Given the description of an element on the screen output the (x, y) to click on. 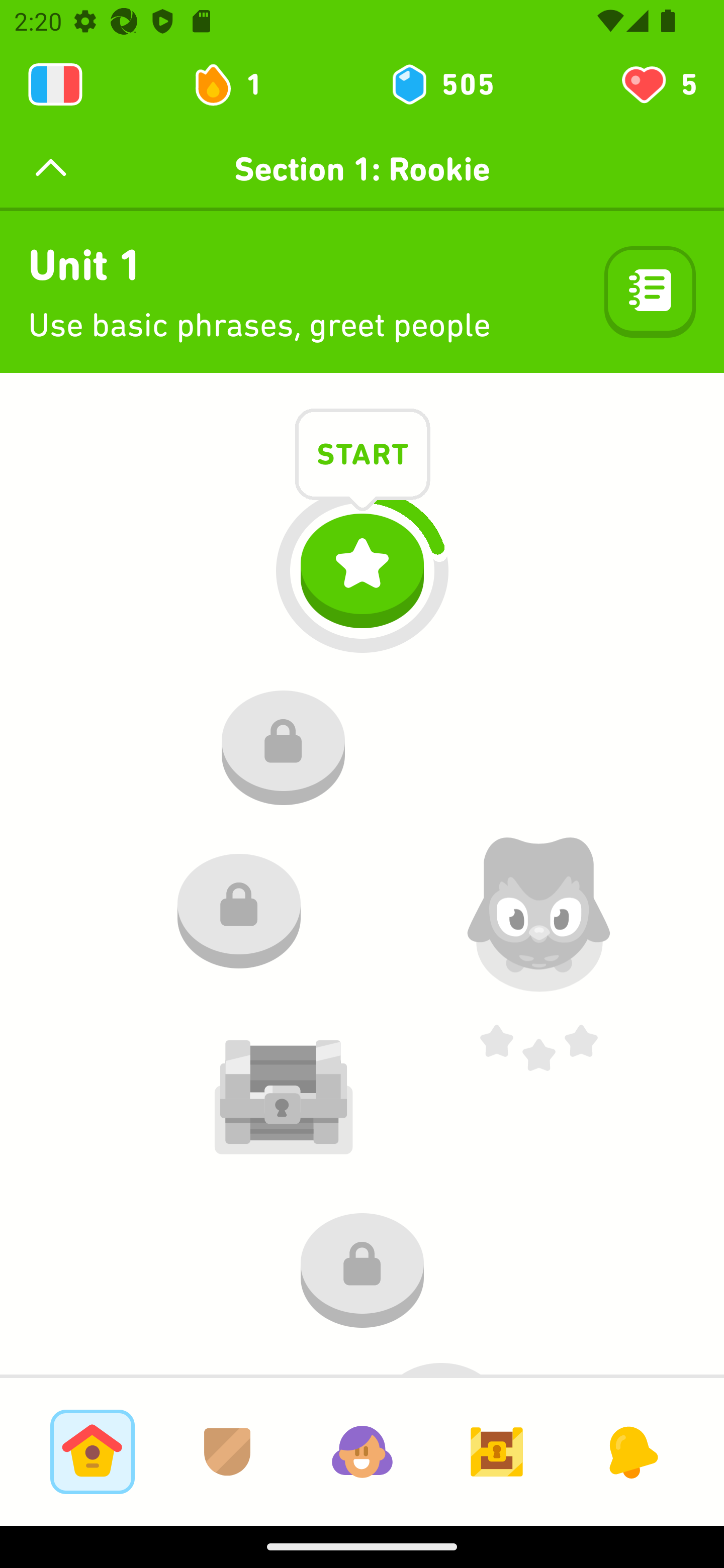
Learning 2131888976 (55, 84)
1 day streak 1 (236, 84)
505 (441, 84)
You have 5 hearts left 5 (657, 84)
Section 1: Rookie (362, 169)
START (362, 457)
Learn Tab (91, 1451)
Leagues Tab (227, 1451)
Profile Tab (361, 1451)
Goals Tab (496, 1451)
News Tab (631, 1451)
